Given the description of an element on the screen output the (x, y) to click on. 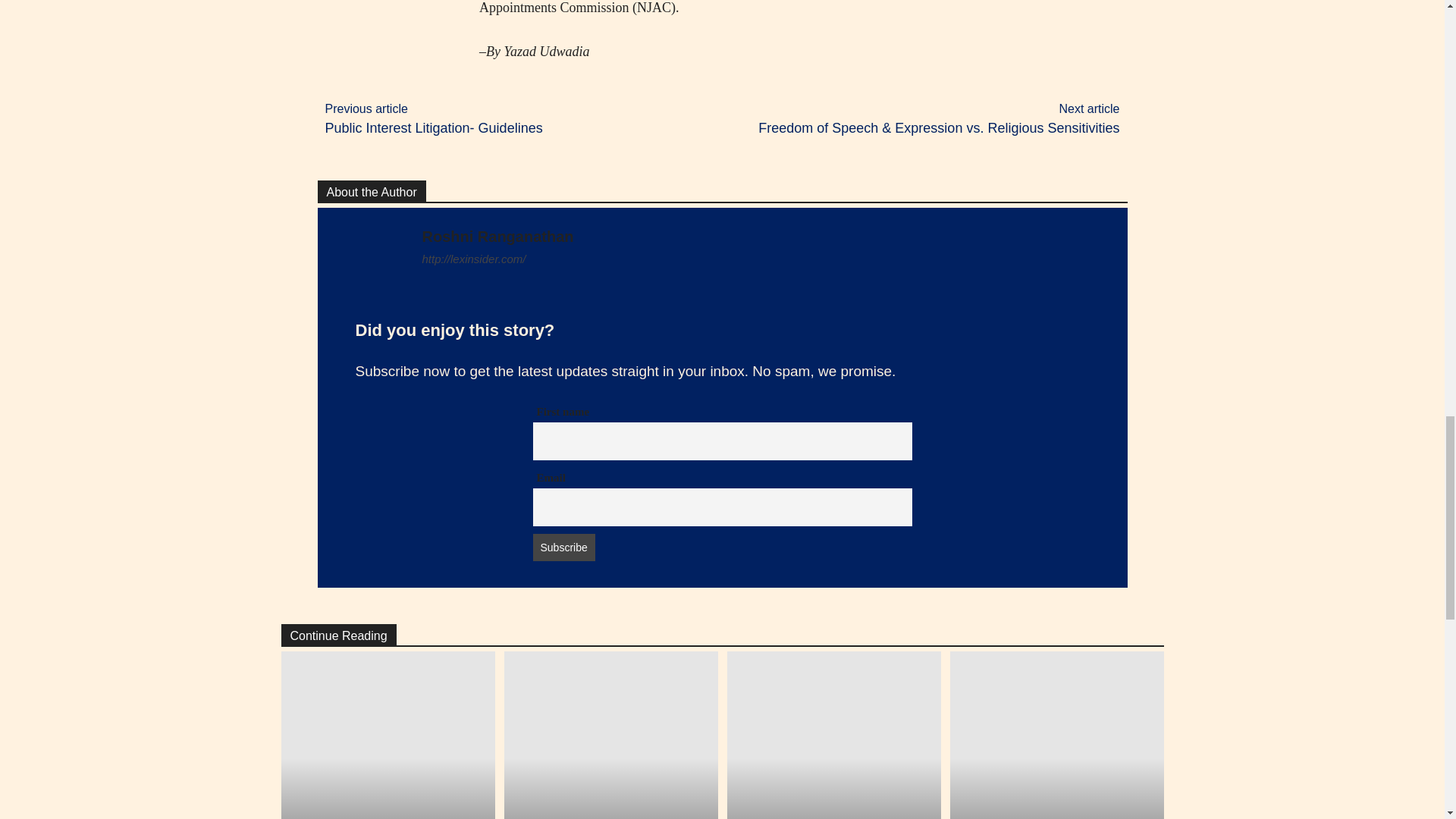
Justice Indrajit Mahanty: Slipping Through The Cracks (610, 735)
Subscribe (563, 547)
Justice Rajesh Bindal: A Tale of Competence and Caution (833, 735)
